Given the description of an element on the screen output the (x, y) to click on. 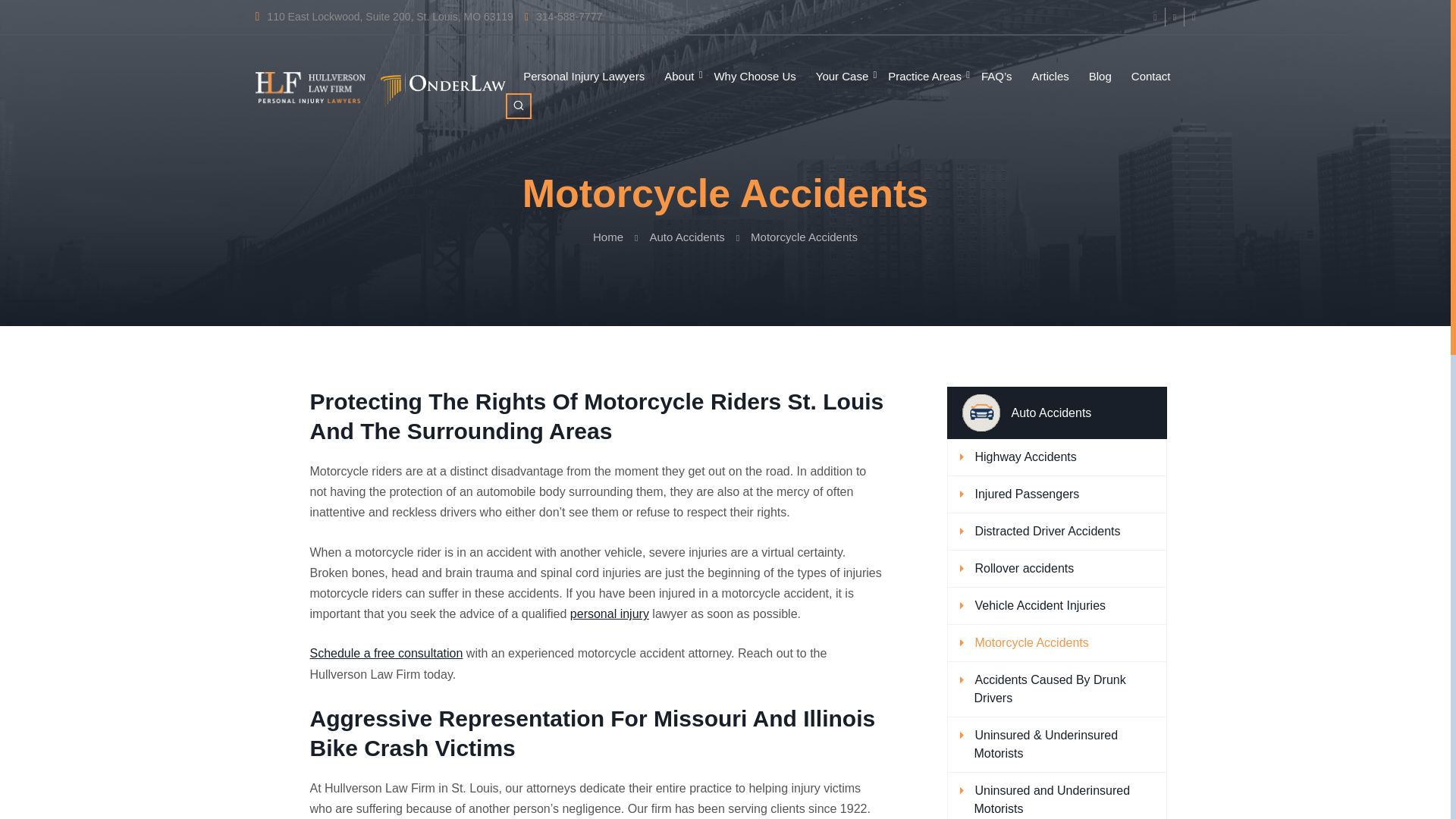
Go to Auto Accidents. (686, 236)
Go to Hullverson Law Firm. (607, 236)
Why Choose Us (754, 76)
Personal Injury Lawyers (583, 76)
314-588-7777 (563, 16)
Your Case (841, 76)
Practice Areas (924, 76)
About (678, 76)
